Given the description of an element on the screen output the (x, y) to click on. 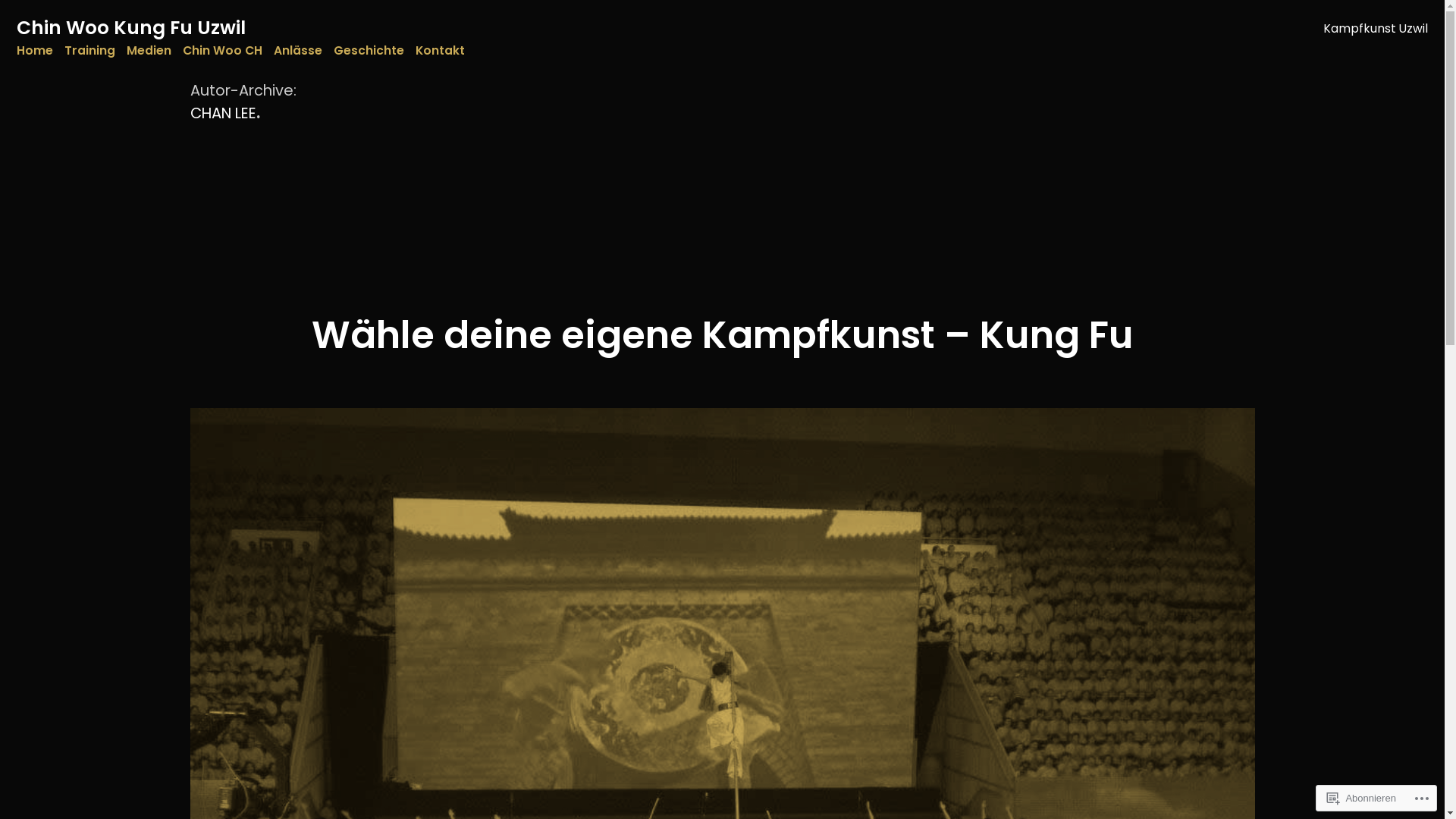
Chin Woo CH Element type: text (222, 50)
Training Element type: text (89, 50)
Medien Element type: text (148, 50)
Kontakt Element type: text (439, 50)
Geschichte Element type: text (368, 50)
Chin Woo Kung Fu Uzwil Element type: text (130, 27)
Abonnieren Element type: text (1361, 797)
Home Element type: text (34, 50)
